Given the description of an element on the screen output the (x, y) to click on. 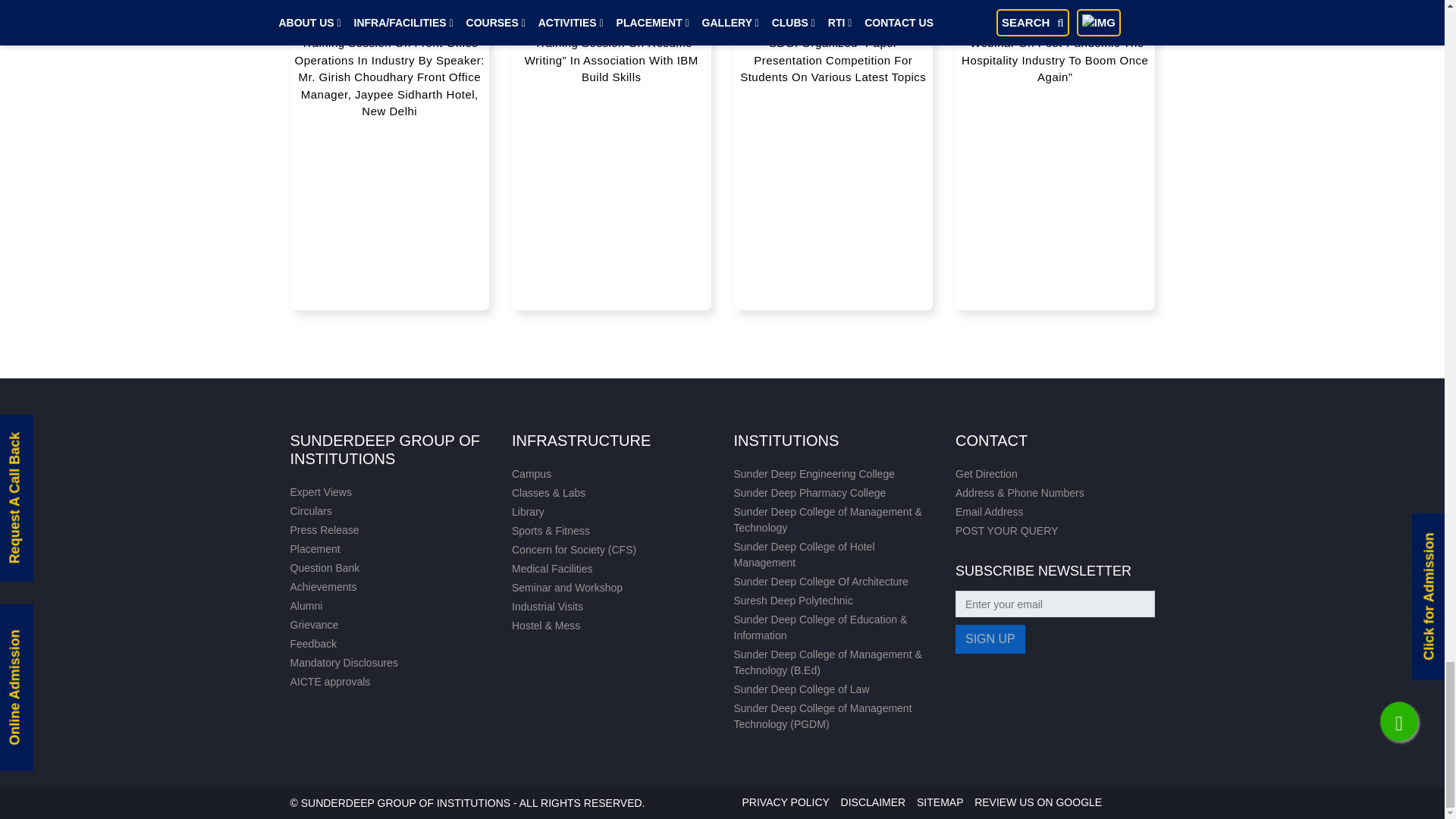
SIGN UP (990, 638)
